Given the description of an element on the screen output the (x, y) to click on. 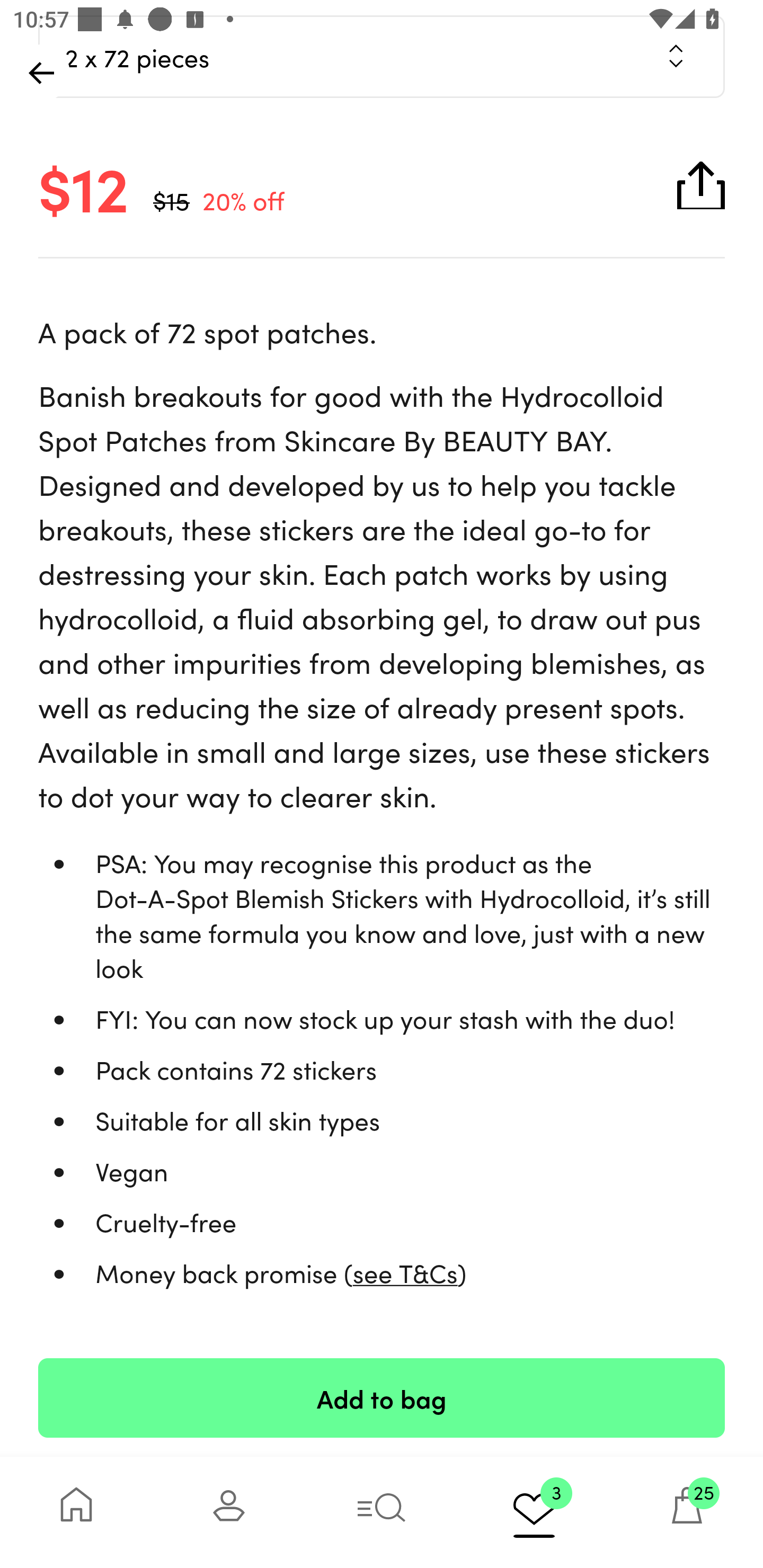
2 x 72 pieces  (381, 56)
Add to bag (381, 1397)
3 (533, 1512)
25 (686, 1512)
